Given the description of an element on the screen output the (x, y) to click on. 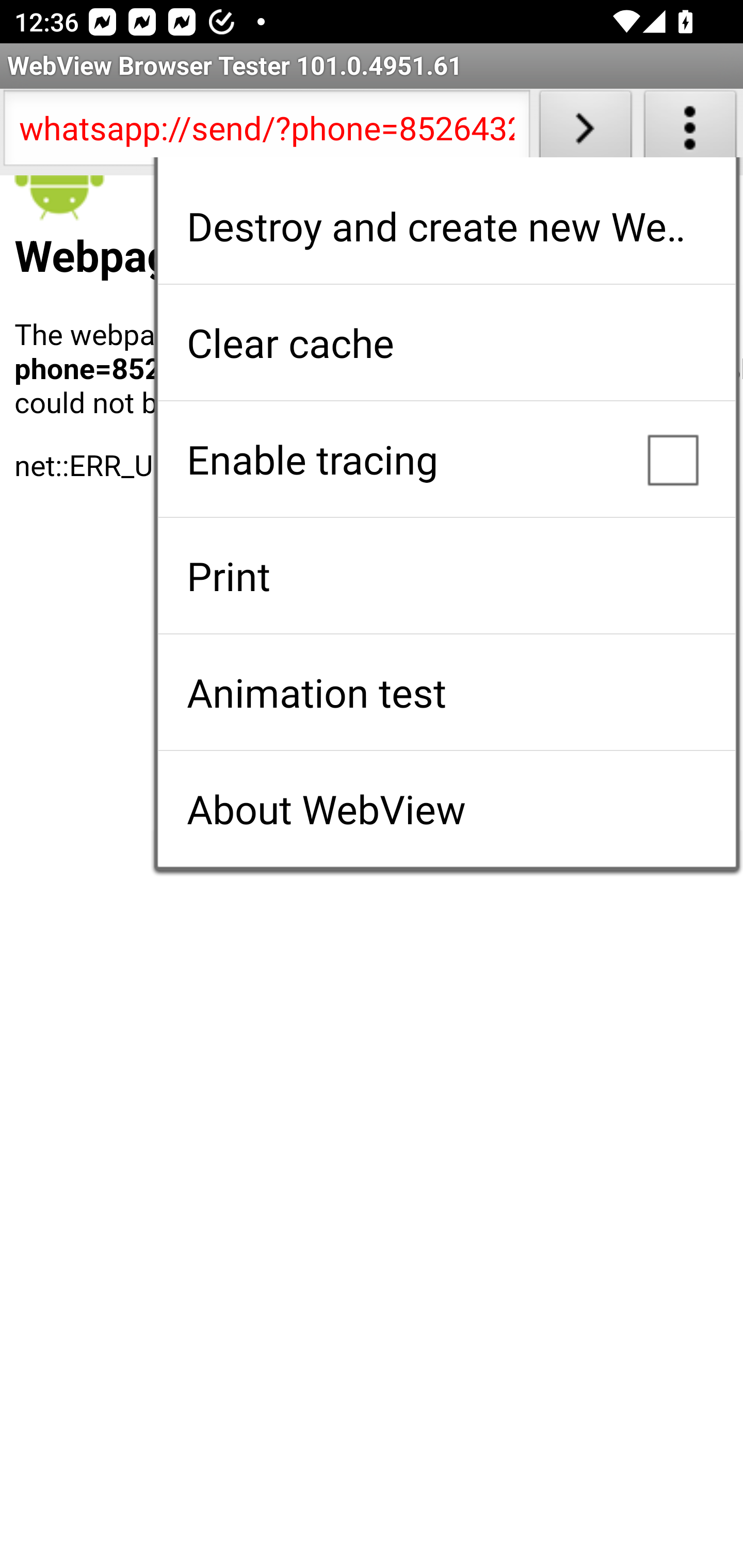
Destroy and create new WebView (446, 225)
Clear cache (446, 342)
Enable tracing (446, 459)
Print (446, 575)
Animation test (446, 692)
About WebView (446, 809)
